Given the description of an element on the screen output the (x, y) to click on. 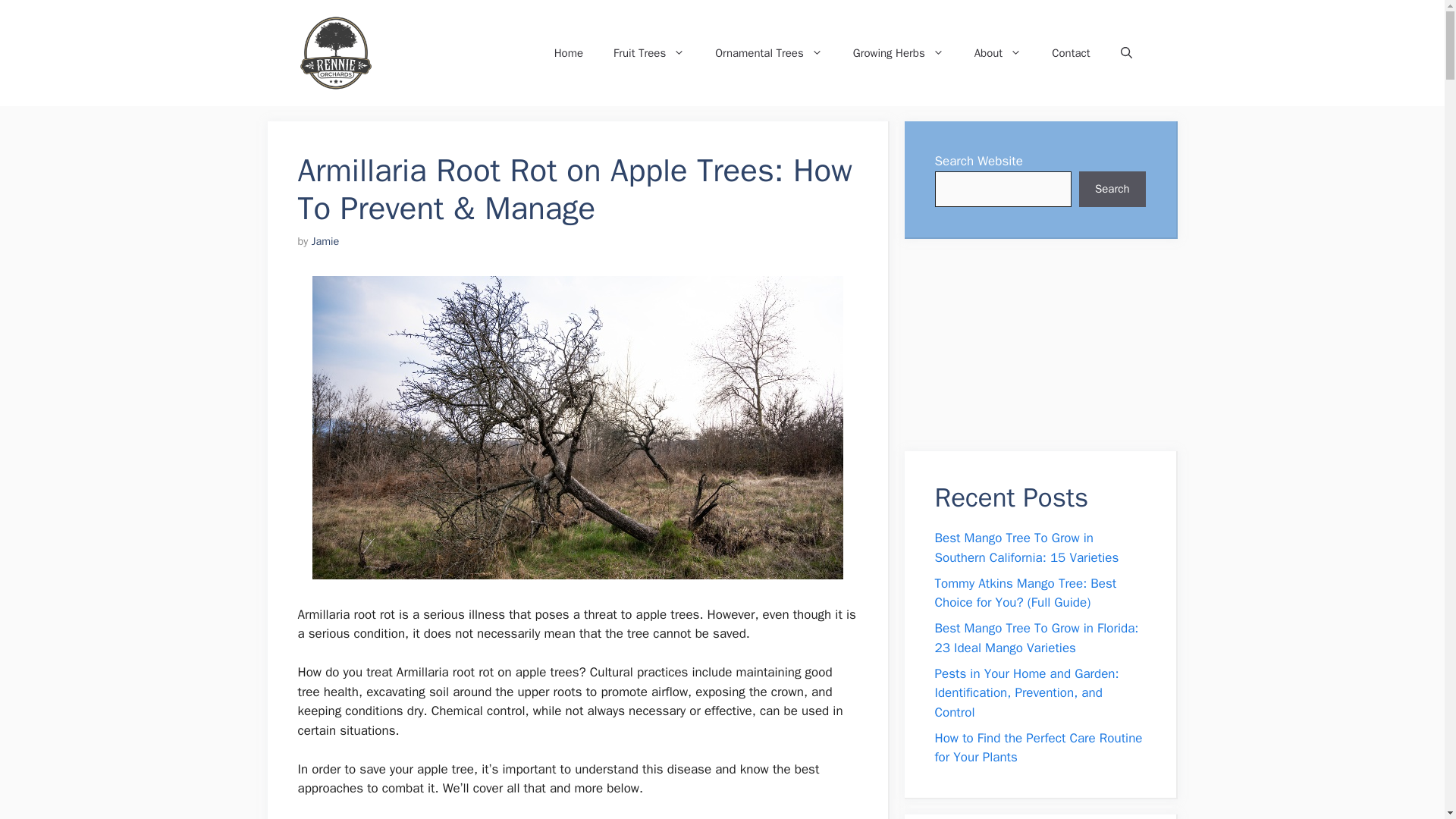
Rennie Orchards (455, 52)
Fruit Trees (649, 53)
About (997, 53)
Home (568, 53)
Contact (1070, 53)
View all posts by Jamie (325, 241)
Growing Herbs (898, 53)
Ornamental Trees (769, 53)
